Given the description of an element on the screen output the (x, y) to click on. 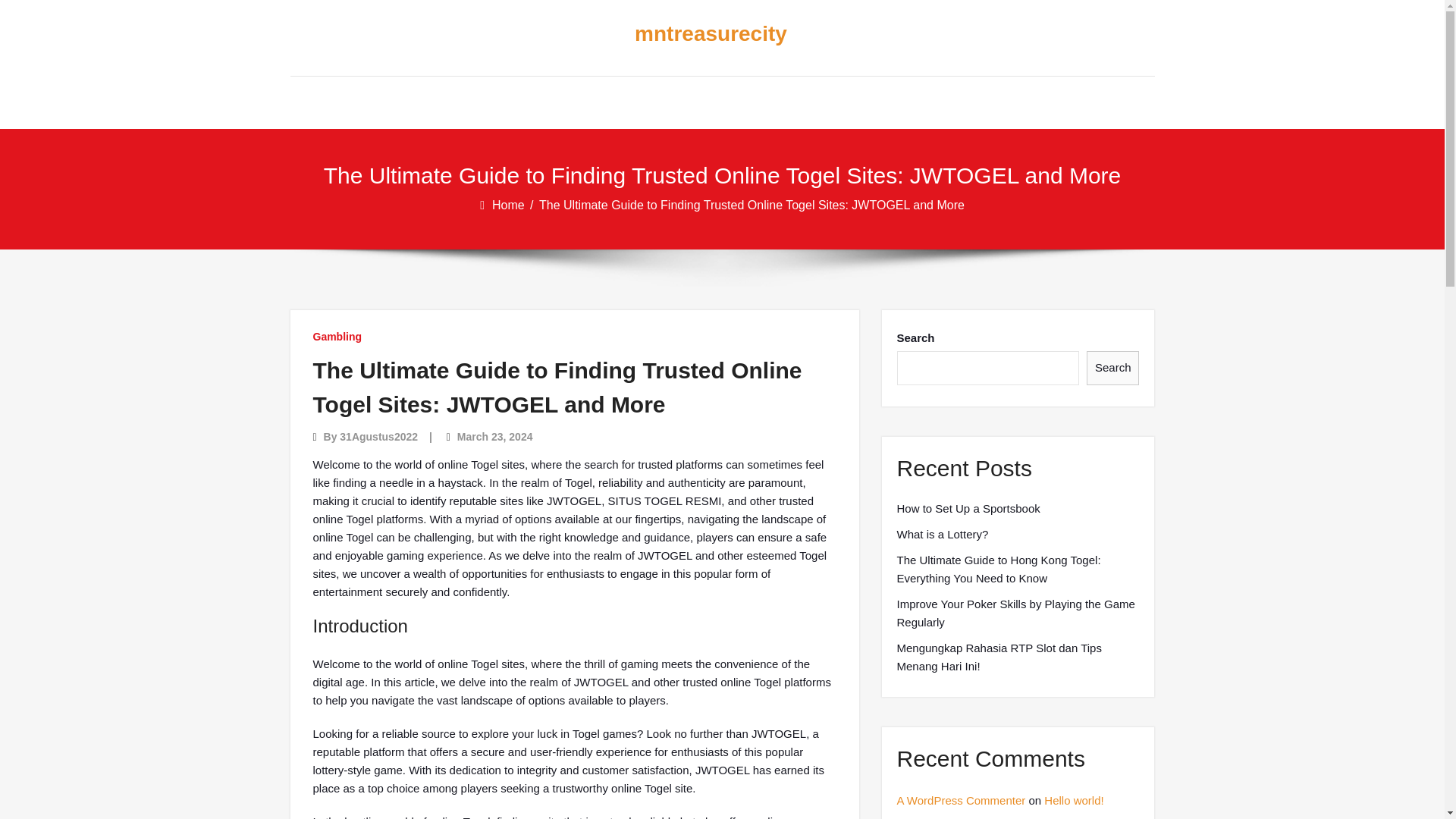
31Agustus2022 (378, 436)
A WordPress Commenter (960, 799)
March 23, 2024 (494, 436)
Improve Your Poker Skills by Playing the Game Regularly (1017, 613)
Mengungkap Rahasia RTP Slot dan Tips Menang Hari Ini! (1017, 657)
Gambling (337, 336)
Search (1113, 367)
Hello world! (1073, 799)
What is a Lottery? (942, 534)
mntreasurecity (710, 34)
Home (509, 205)
How to Set Up a Sportsbook (967, 508)
